Given the description of an element on the screen output the (x, y) to click on. 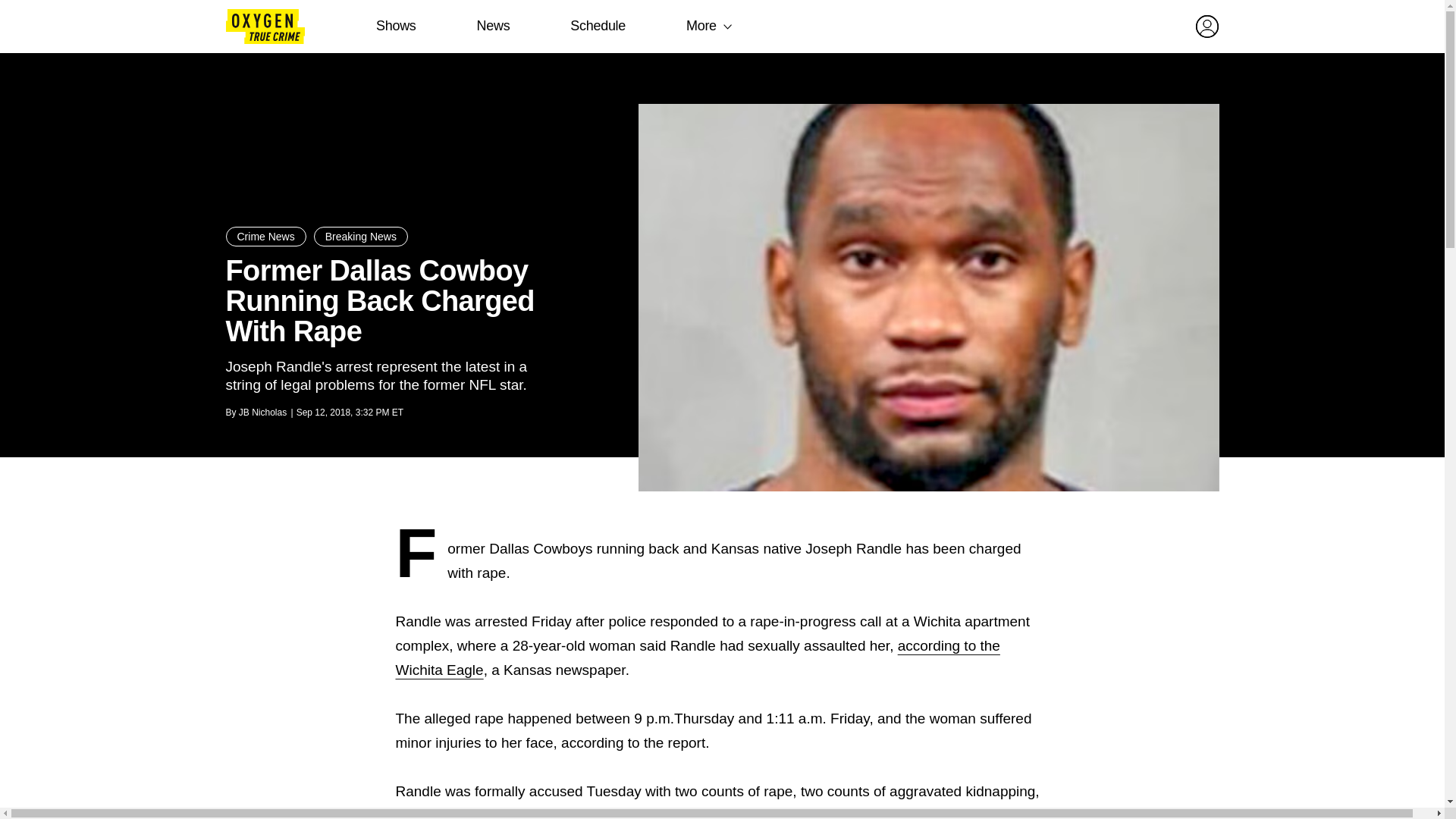
News (492, 26)
Schedule (598, 26)
Shows (395, 26)
according to the Wichita Eagle (698, 658)
More (700, 26)
JB Nicholas (262, 412)
Crime News (265, 236)
Breaking News (360, 236)
